Given the description of an element on the screen output the (x, y) to click on. 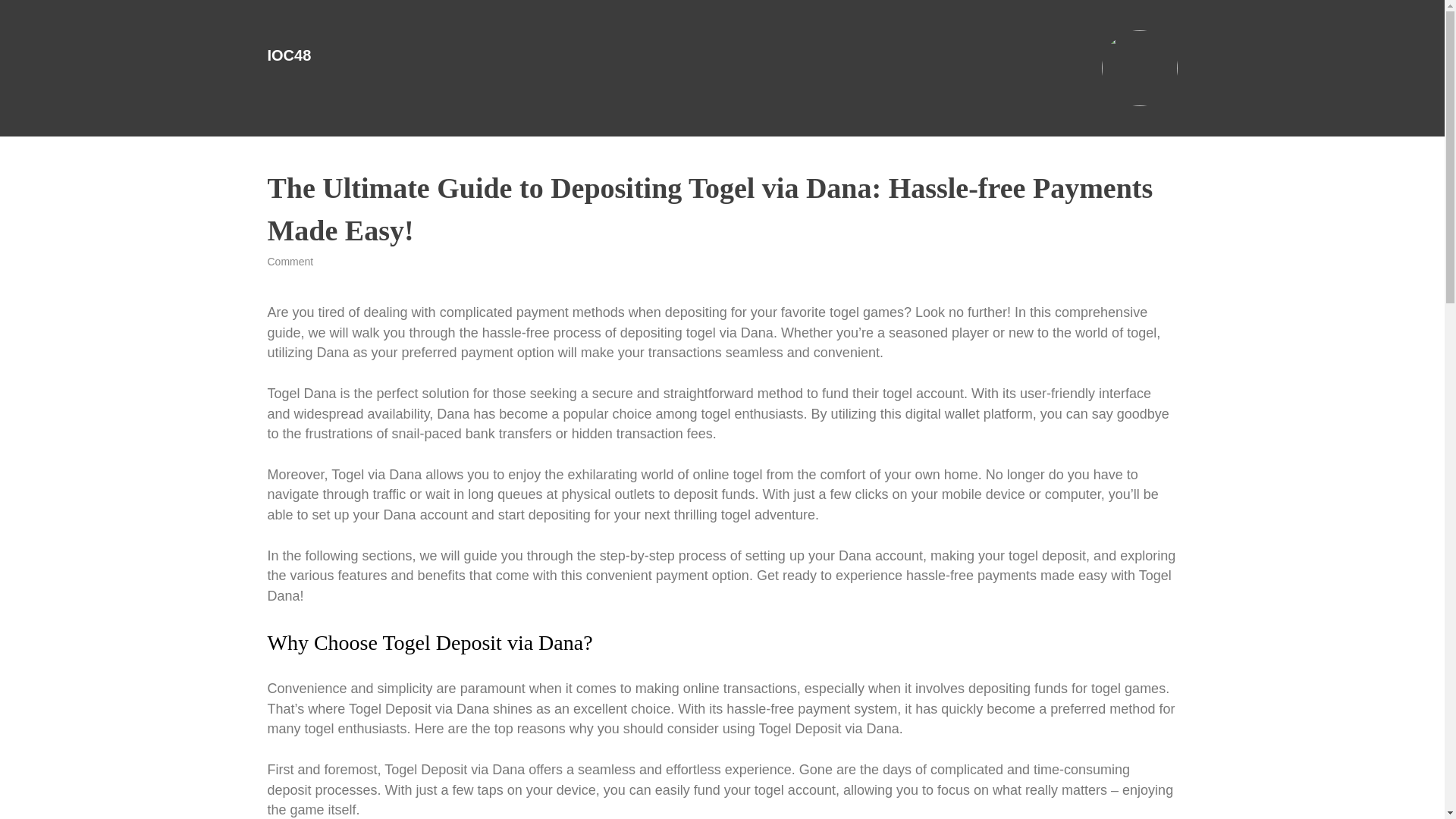
Comment (289, 261)
ioc48 (288, 54)
IOC48 (288, 54)
